Given the description of an element on the screen output the (x, y) to click on. 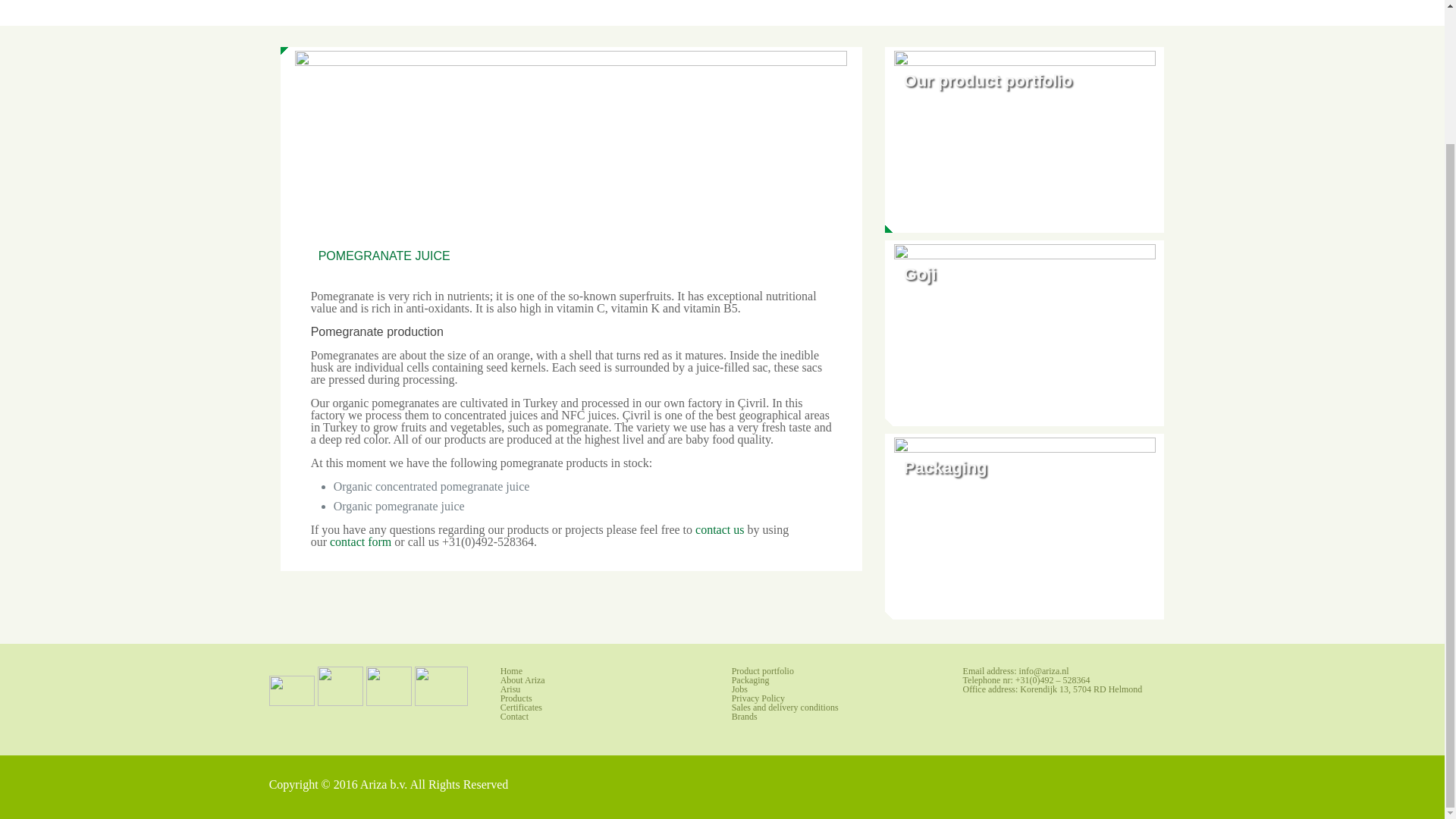
goji-global-side-bar-2 (1024, 333)
packaging-global-side-bar3 (1024, 525)
Packaging (751, 679)
contact form (360, 541)
READ MORE (944, 381)
READ MORE (944, 573)
Jobs (740, 688)
pomegranate-breed-728x286 (571, 157)
About Ariza (522, 679)
Home (511, 670)
